Given the description of an element on the screen output the (x, y) to click on. 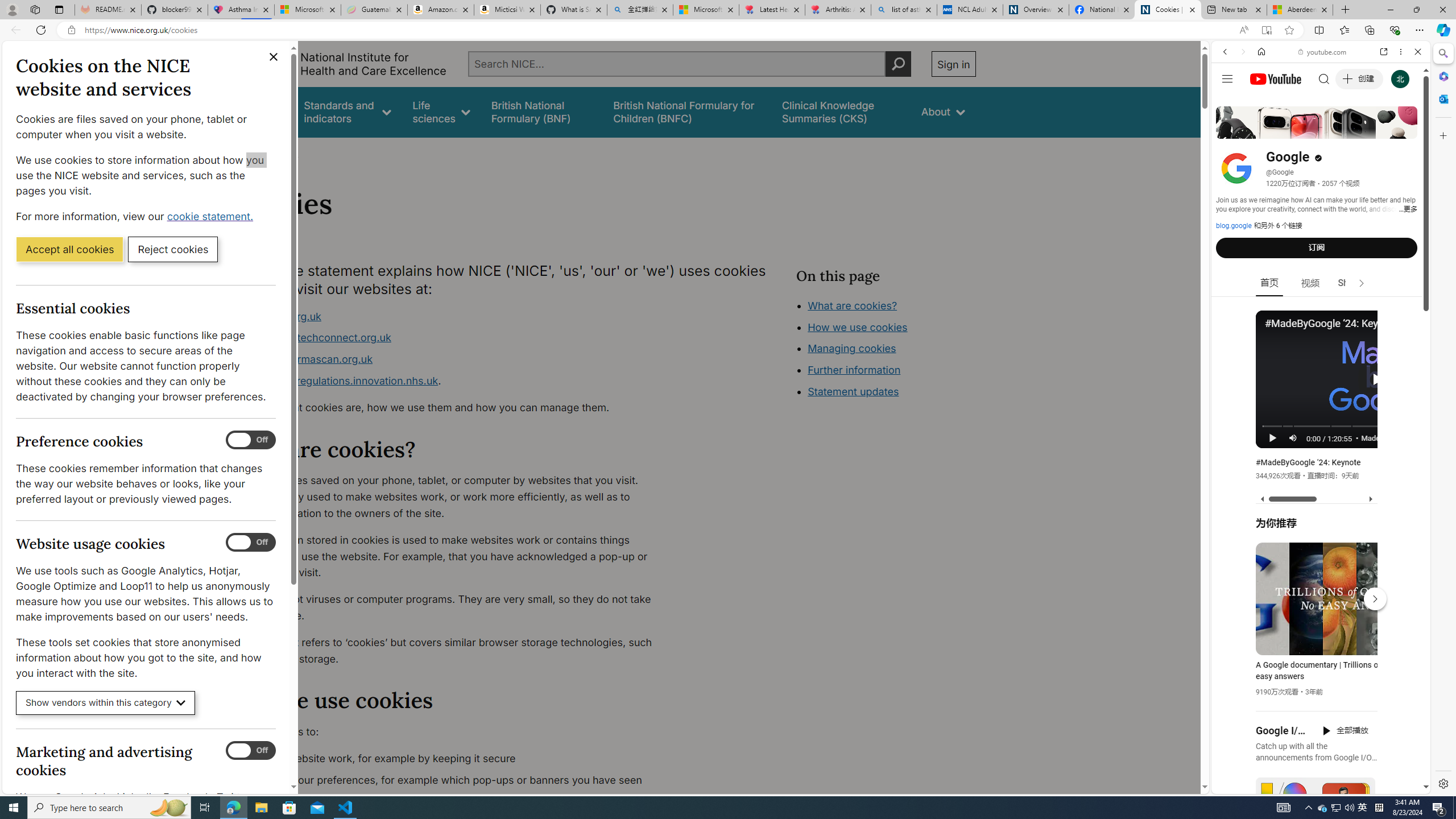
Guidance (260, 111)
Side bar (1443, 418)
YouTube (1315, 655)
MadeByGoogle '24: Intro (1391, 437)
Sign in (952, 63)
Statement updates (853, 391)
VIDEOS (1300, 130)
